Given the description of an element on the screen output the (x, y) to click on. 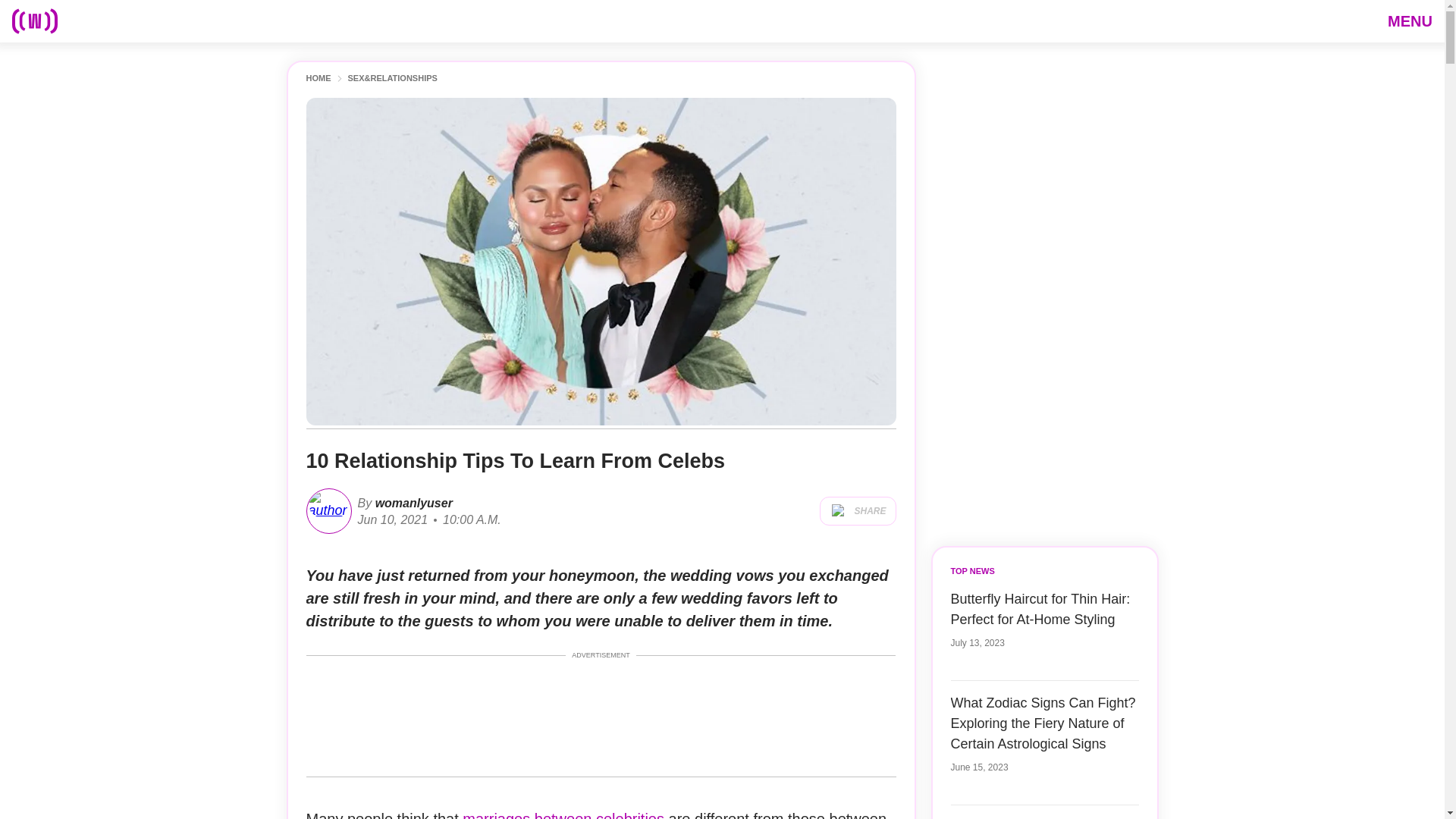
SHARE (857, 510)
womanlyuser (411, 502)
HOME (318, 78)
marriages between celebrities (563, 814)
MENU (1409, 20)
